Given the description of an element on the screen output the (x, y) to click on. 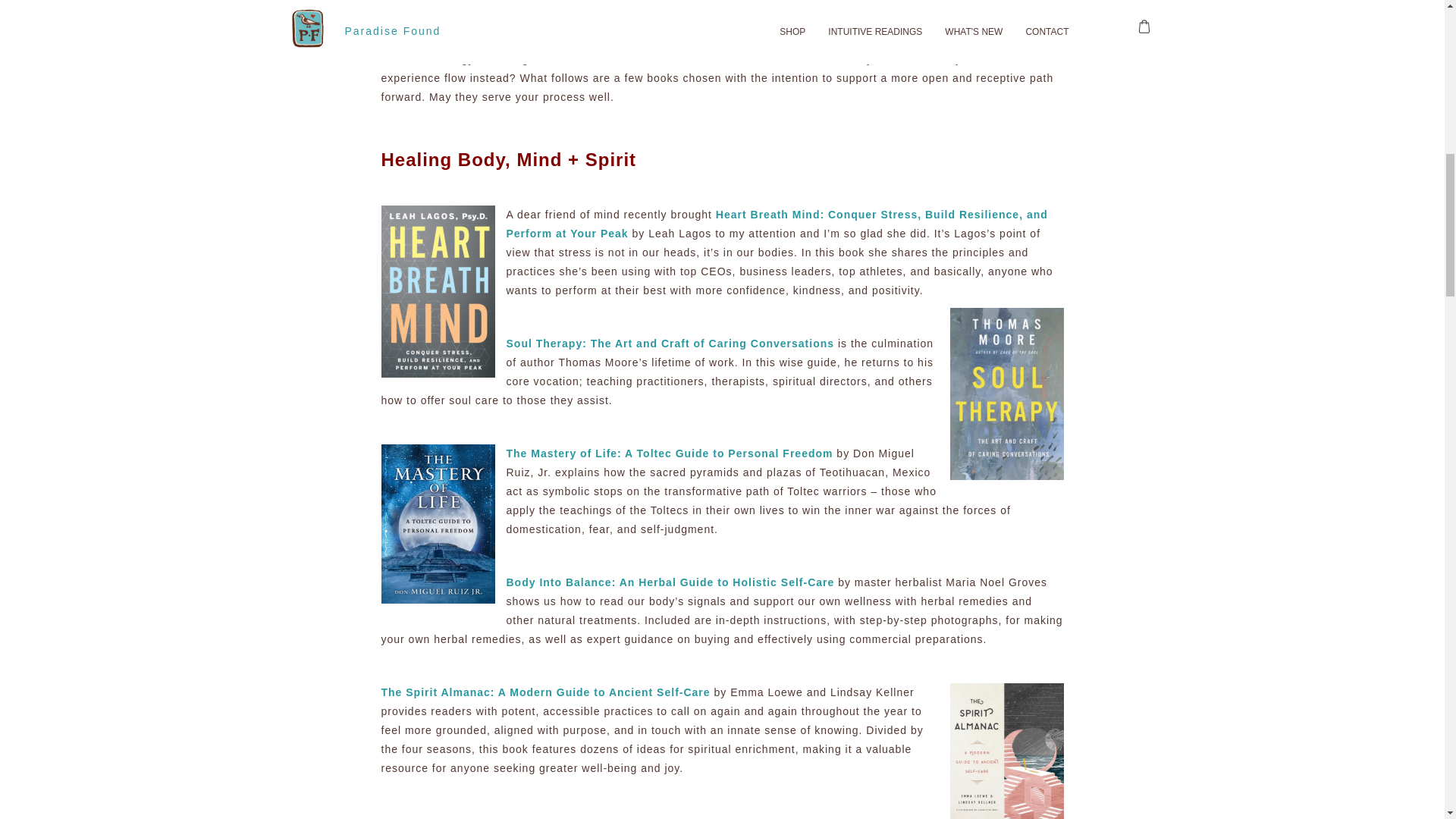
Soul Therapy: The Art and Craft of Caring Conversations (670, 343)
Body Into Balance: An Herbal Guide to Holistic Self-Care (670, 582)
The Mastery of Life: A Toltec Guide to Personal Freedom (669, 453)
The Spirit Almanac: A Modern Guide to Ancient Self-Care (545, 692)
